Given the description of an element on the screen output the (x, y) to click on. 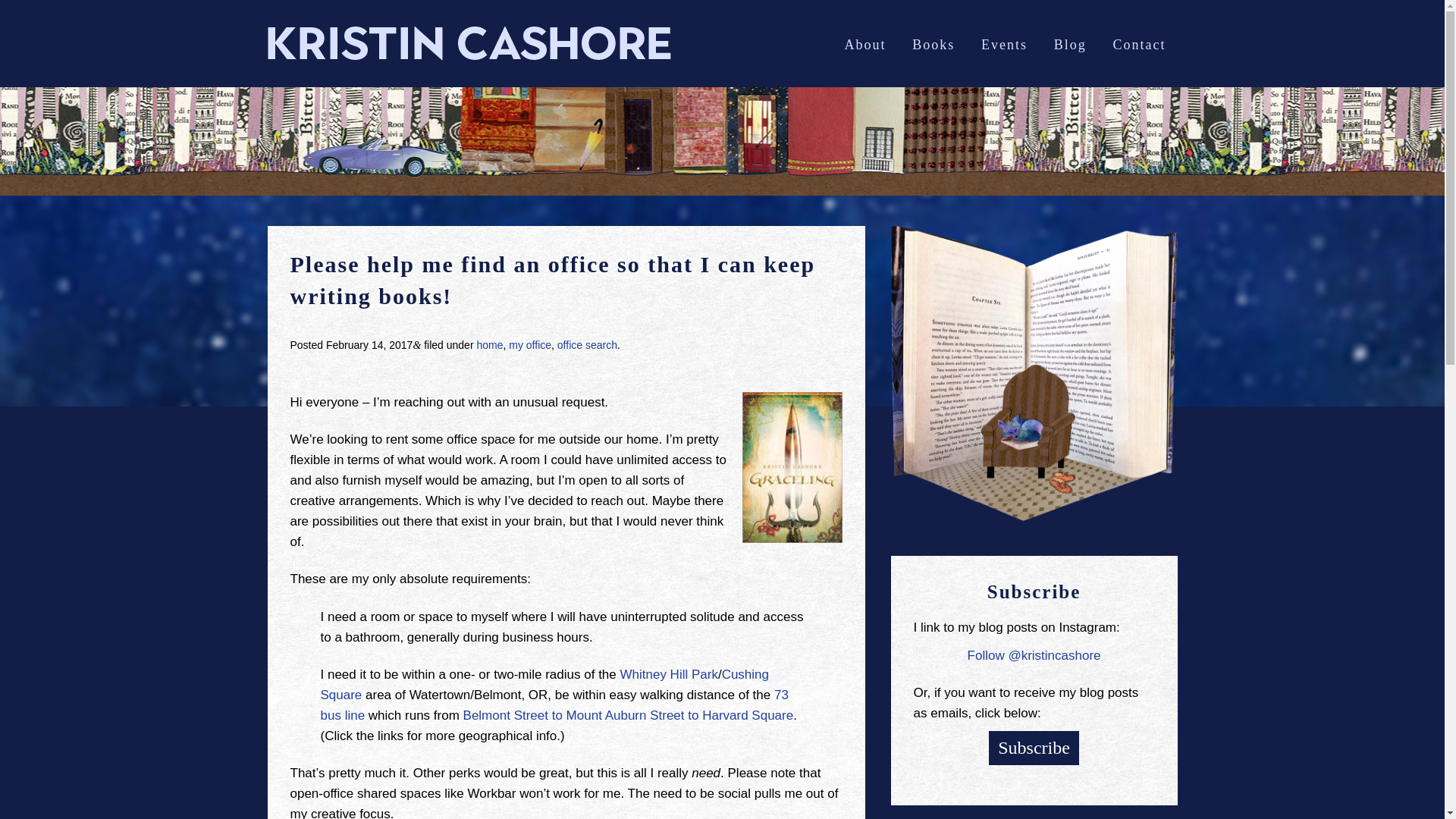
office search (587, 345)
Contact (1138, 44)
home (489, 345)
Cushing Square (544, 684)
Books (933, 44)
Whitney Hill Park (668, 674)
Blog (1069, 44)
Belmont Street to Mount Auburn Street to Harvard Square (628, 715)
my office (529, 345)
73 bus line (553, 704)
Subscribe (1033, 747)
About (865, 44)
Events (1004, 44)
